Given the description of an element on the screen output the (x, y) to click on. 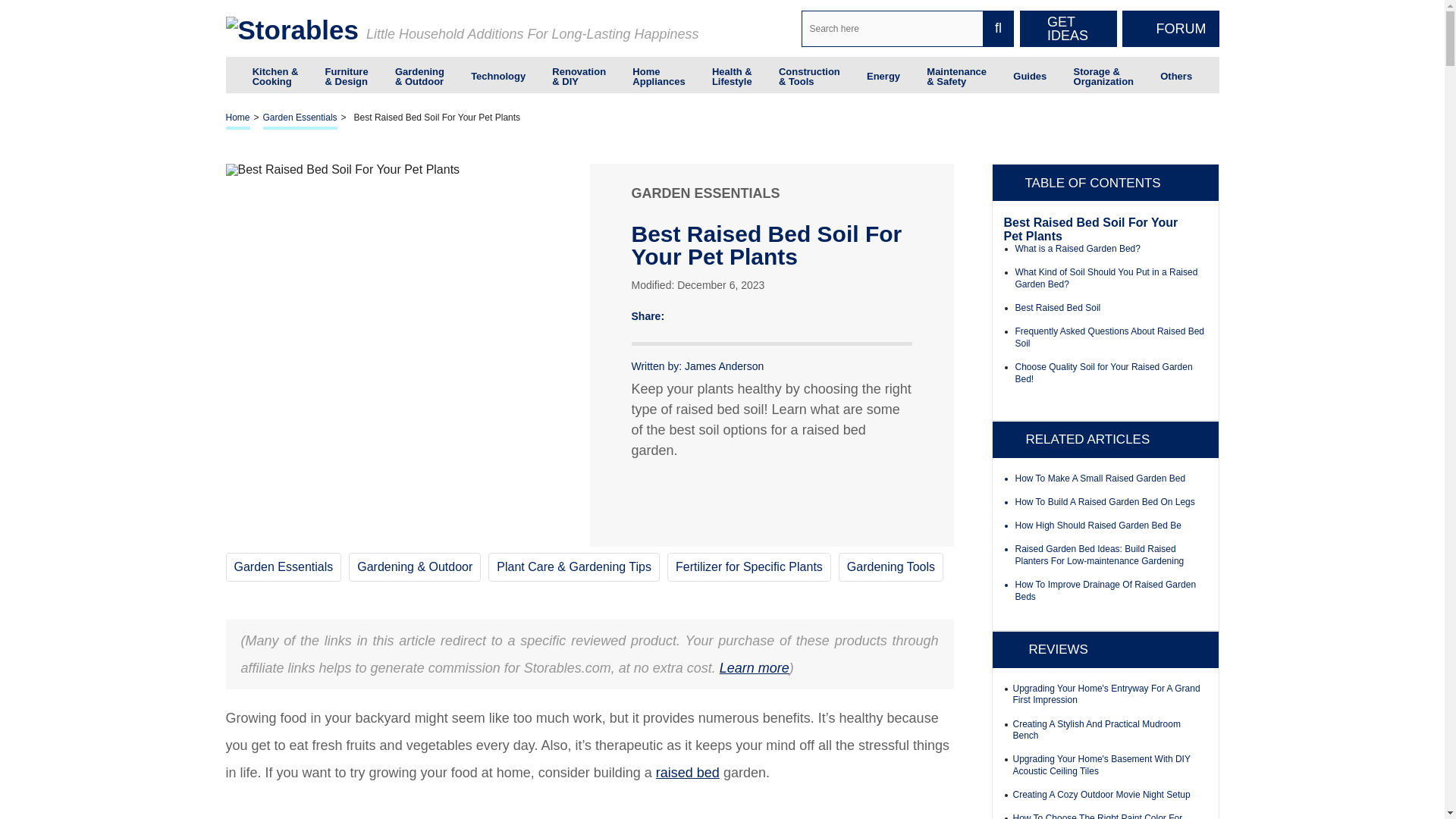
GET IDEAS (1067, 28)
Technology (497, 74)
FORUM (1171, 28)
raised bed (687, 772)
